Given the description of an element on the screen output the (x, y) to click on. 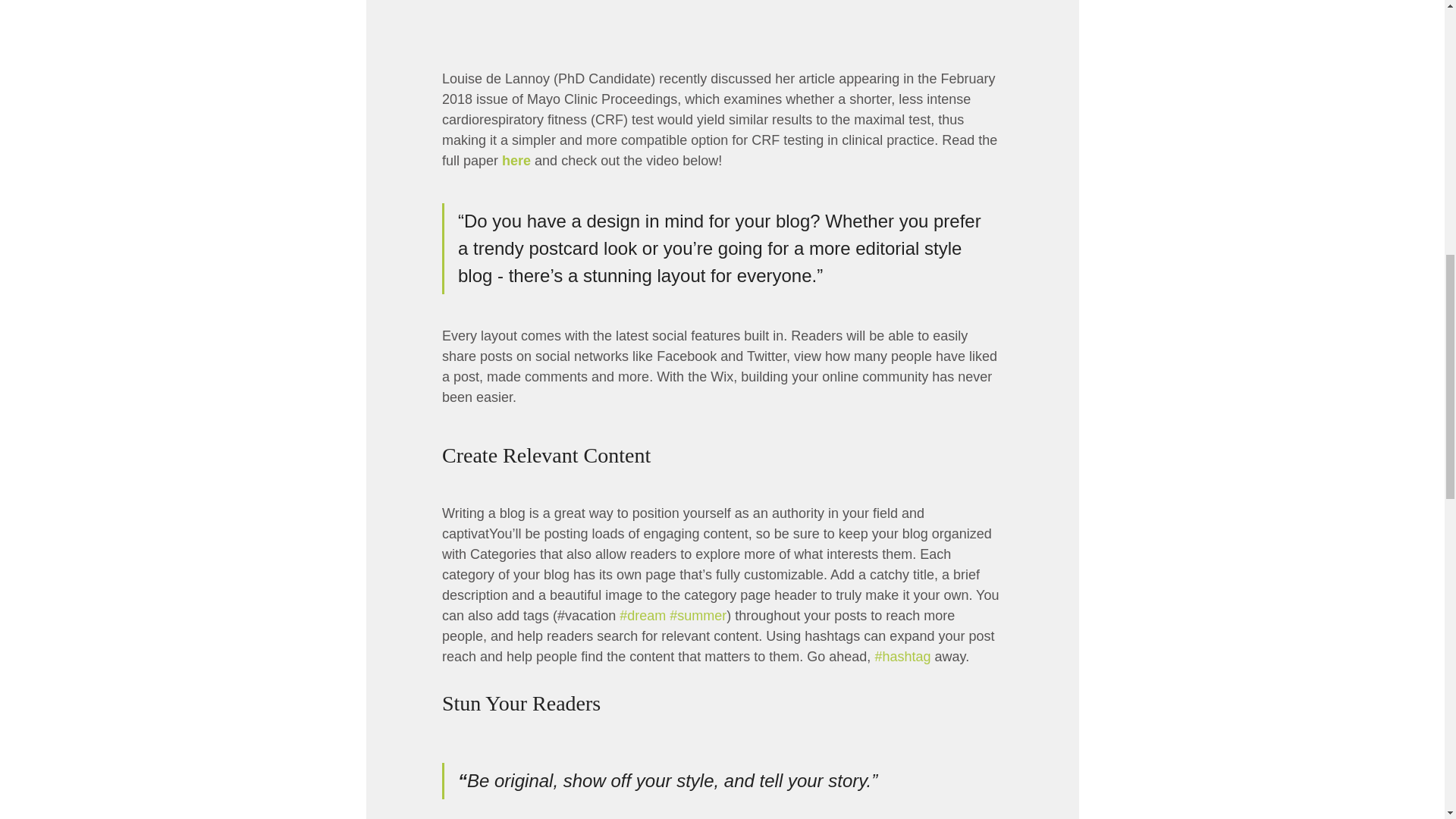
here (516, 160)
